Given the description of an element on the screen output the (x, y) to click on. 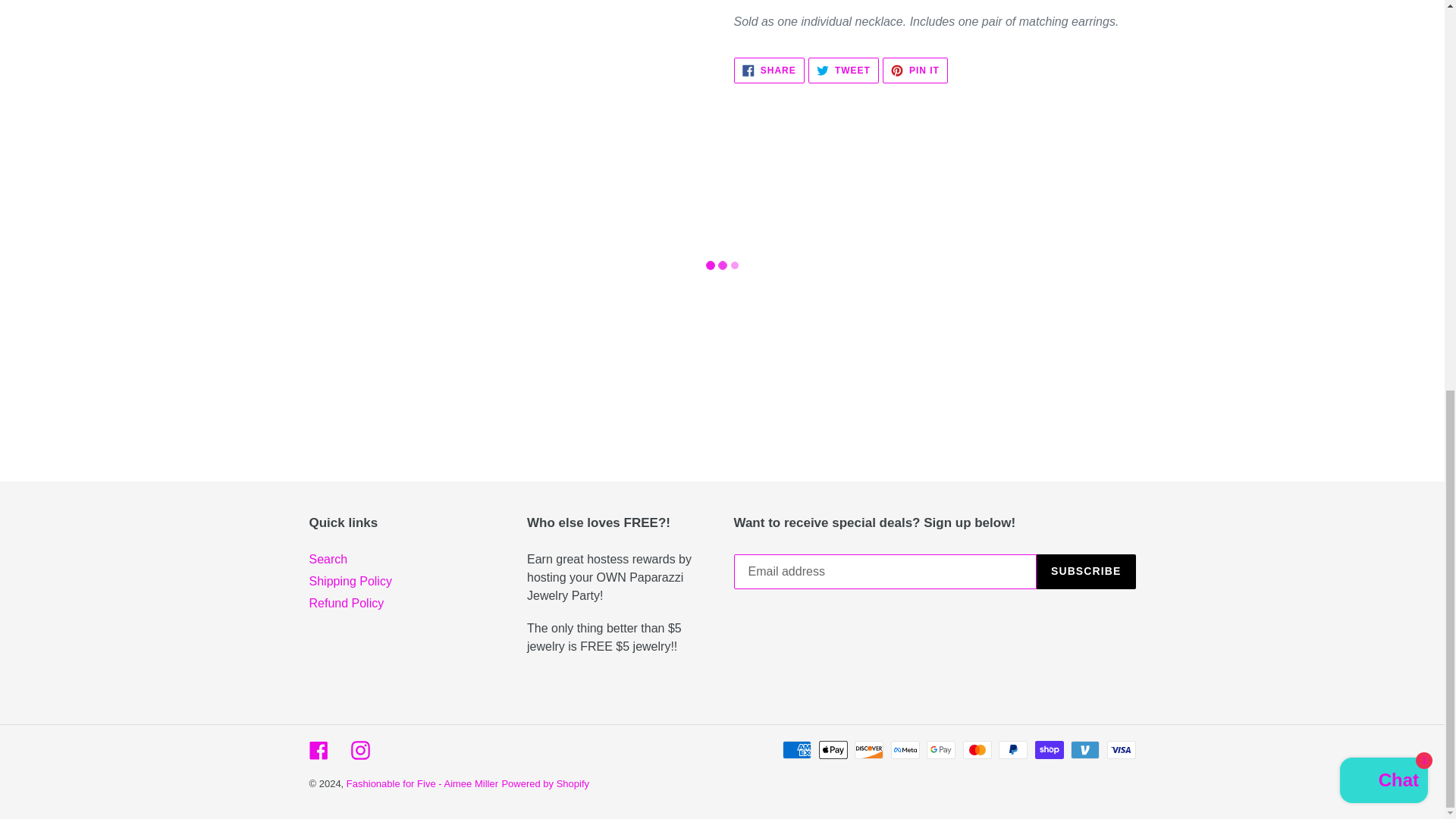
Shopify online store chat (1383, 36)
